Given the description of an element on the screen output the (x, y) to click on. 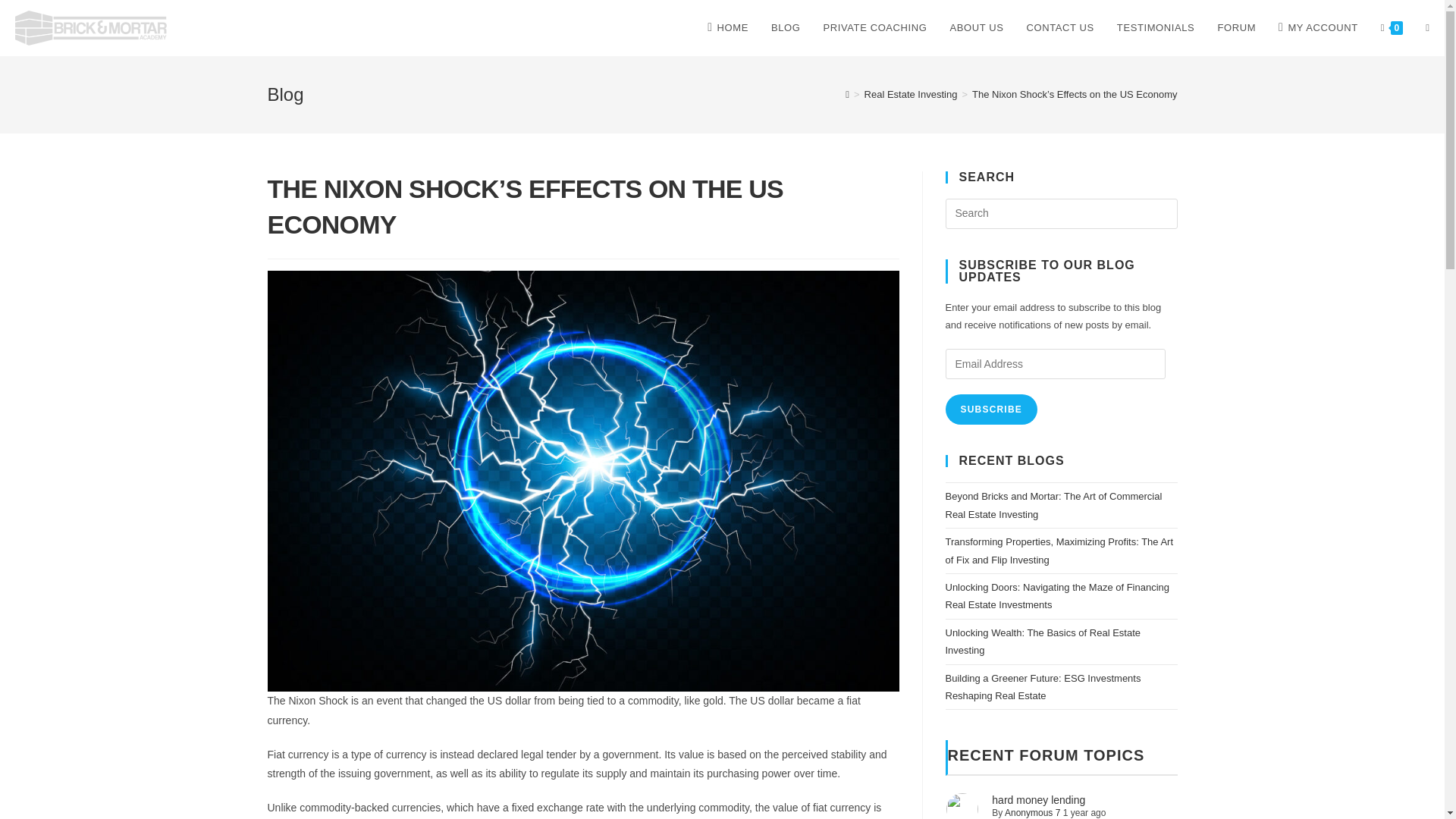
FORUM (1235, 28)
ABOUT US (976, 28)
CONTACT US (1059, 28)
hard money lending (1037, 799)
MY ACCOUNT (1318, 28)
BLOG (786, 28)
PRIVATE COACHING (875, 28)
Anonymous 7 (1031, 812)
Real Estate Investing (911, 93)
HOME (727, 28)
TESTIMONIALS (1156, 28)
